Given the description of an element on the screen output the (x, y) to click on. 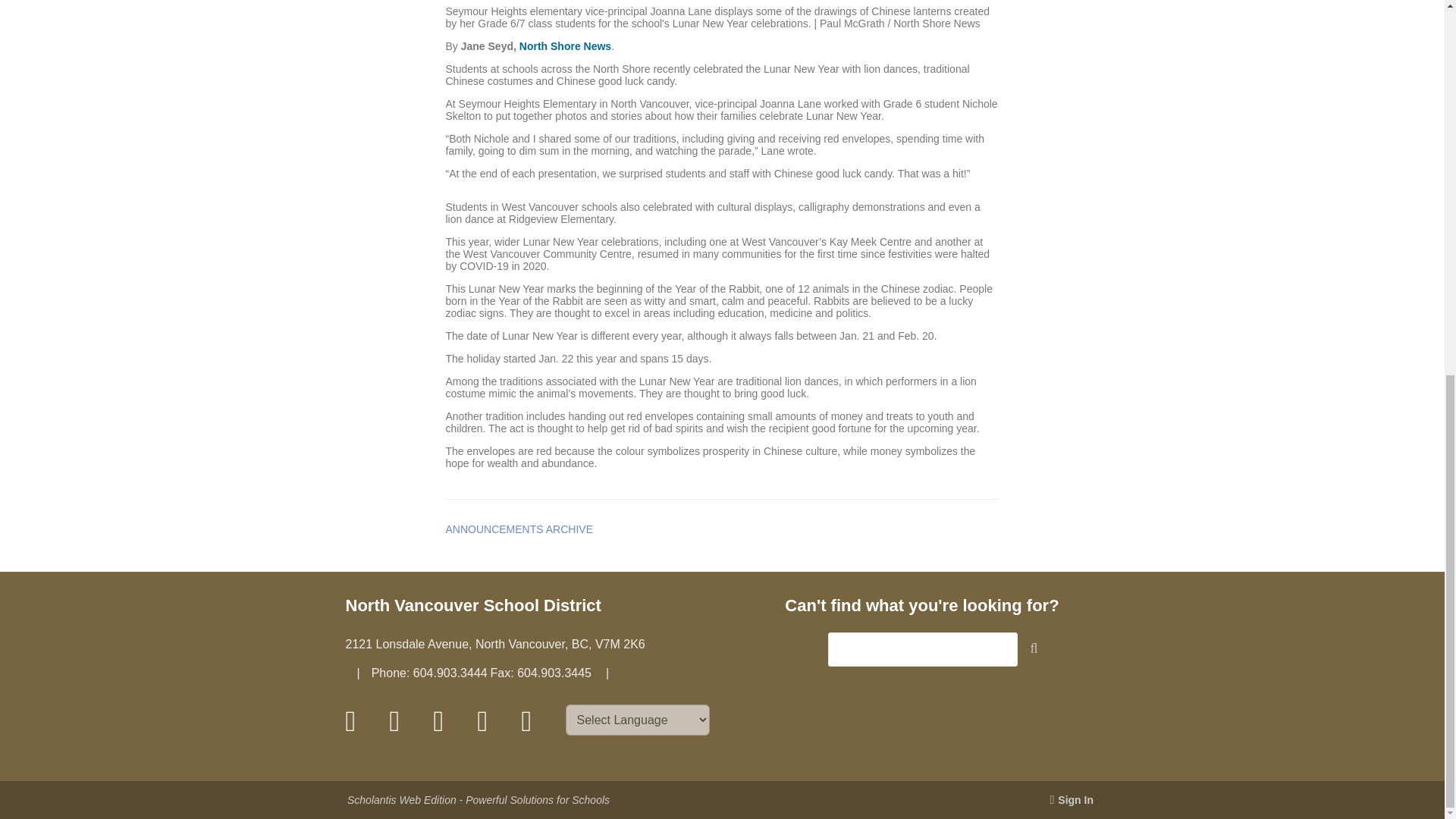
Search... (922, 649)
Search (1040, 651)
